Given the description of an element on the screen output the (x, y) to click on. 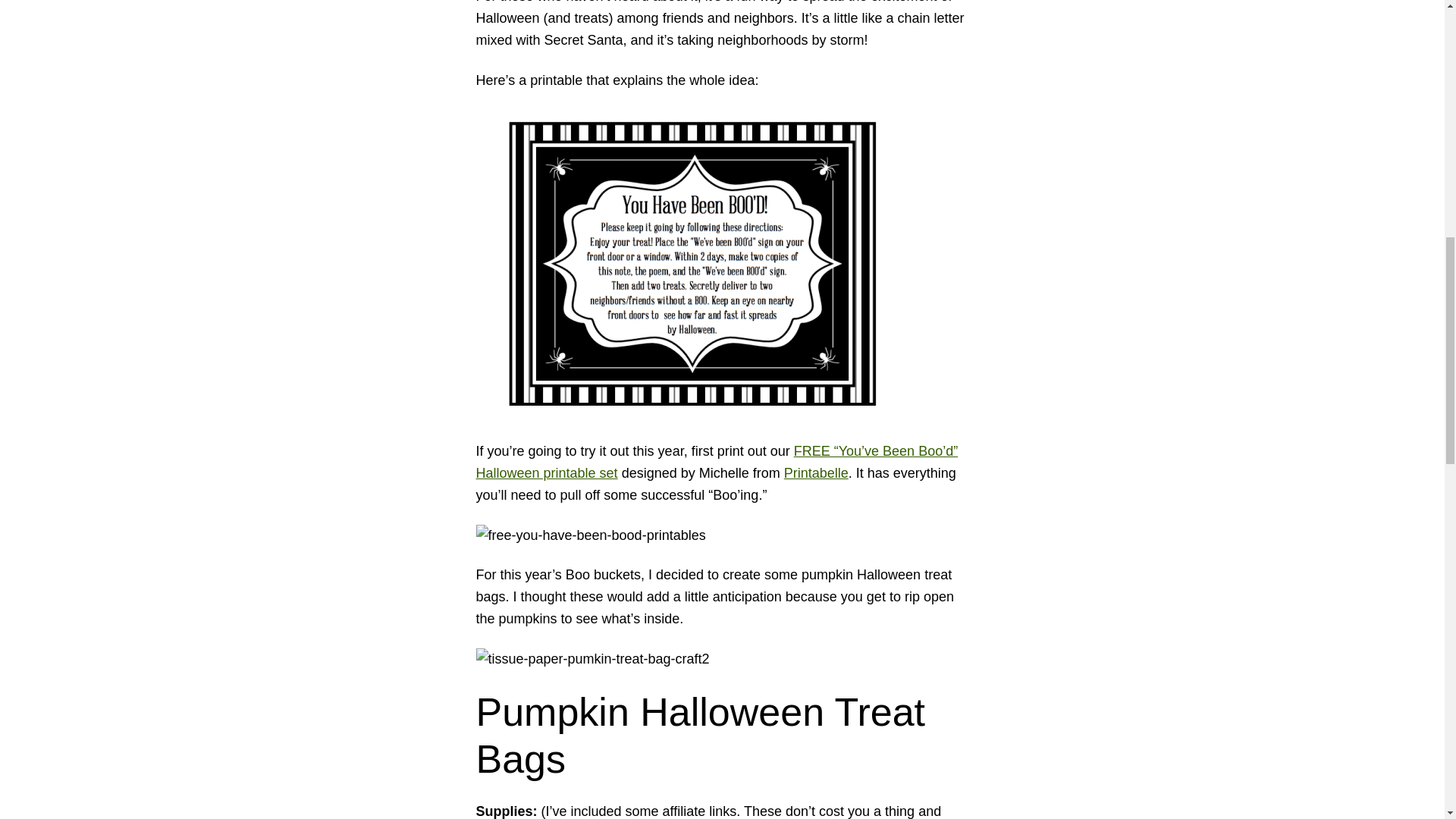
Printabelle (816, 473)
